Given the description of an element on the screen output the (x, y) to click on. 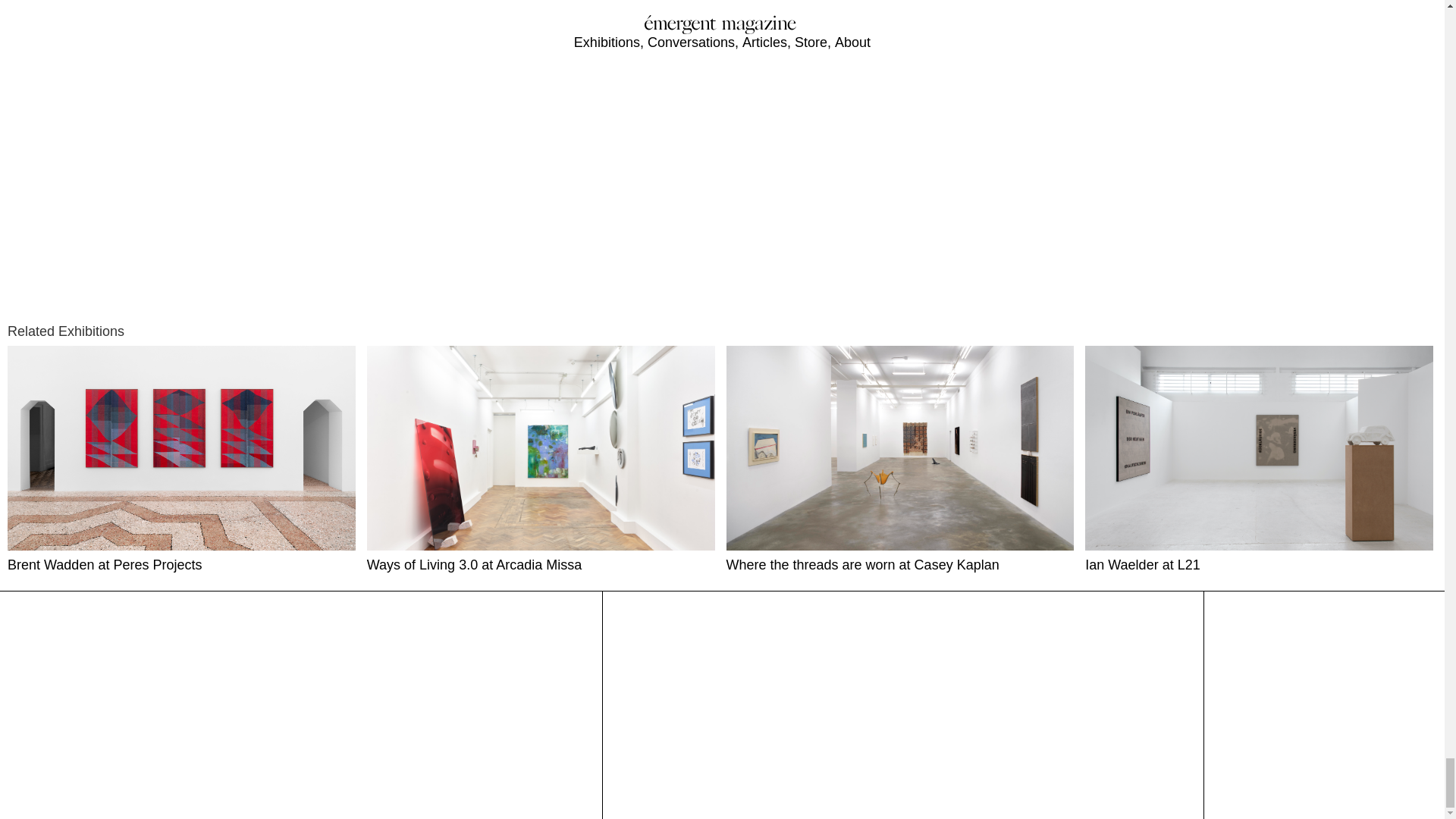
Ways of Living 3.0 at Arcadia Missa (542, 460)
Submit (635, 786)
Ian Waelder at L21 (1260, 460)
Brent Wadden at Peres Projects (183, 460)
Where the threads are worn at Casey Kaplan (902, 460)
